Given the description of an element on the screen output the (x, y) to click on. 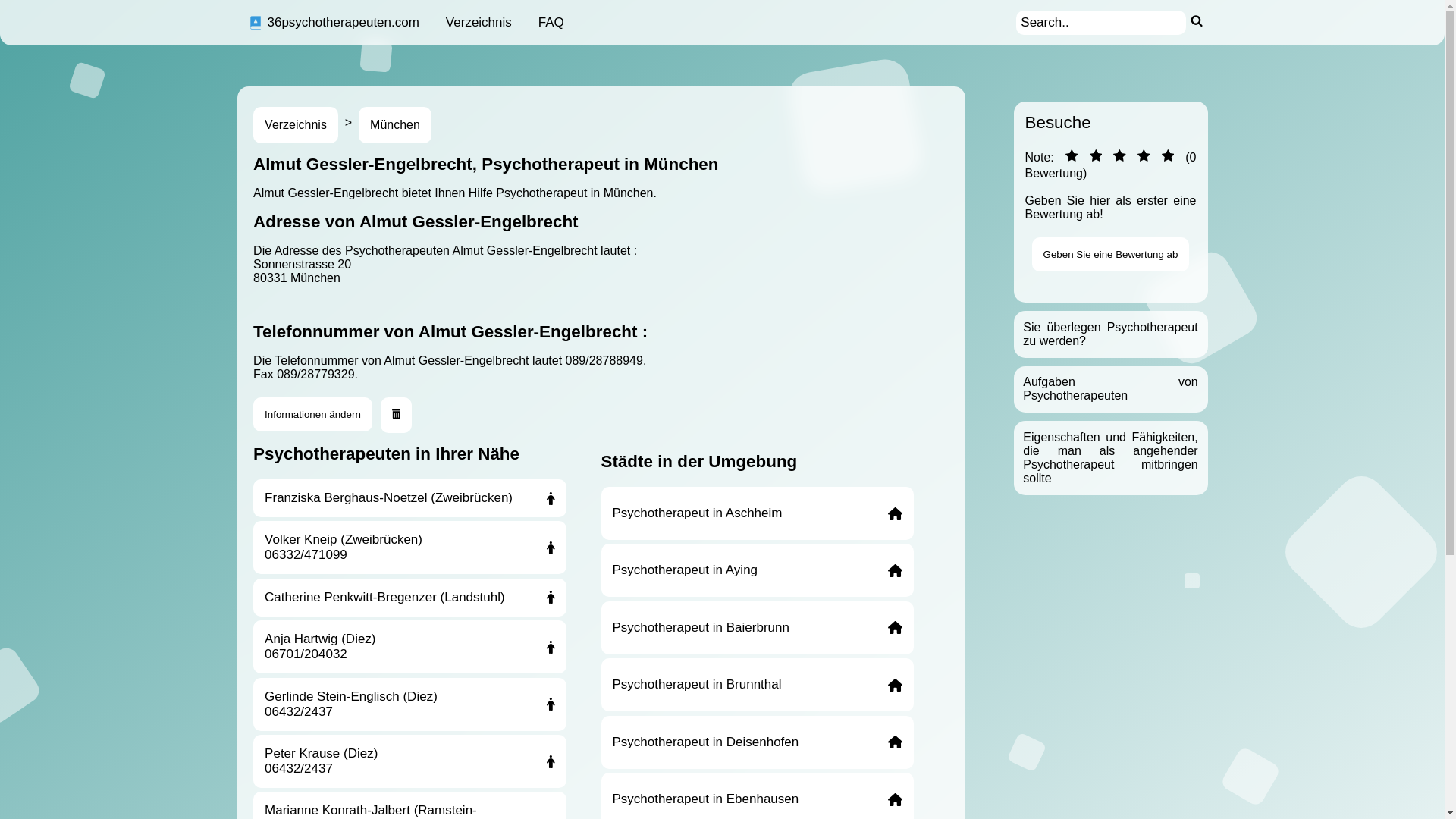
Verzeichnis Element type: text (478, 22)
Aufgaben von Psychotherapeuten Element type: text (1109, 388)
Peter Krause (Diez)
06432/2437 Element type: text (409, 760)
Geben Sie eine Bewertung ab Element type: text (1110, 254)
Verzeichnis Element type: text (295, 124)
Gerlinde Stein-Englisch (Diez)
06432/2437 Element type: text (409, 704)
Psychotherapeut in Aying Element type: text (756, 569)
Psychotherapeut in Aschheim Element type: text (756, 512)
Catherine Penkwitt-Bregenzer (Landstuhl) Element type: text (409, 597)
Psychotherapeut in Brunnthal Element type: text (756, 684)
36psychotherapeuten.com Element type: text (332, 22)
089/28788949 Element type: text (604, 360)
FAQ Element type: text (551, 22)
Psychotherapeut in Baierbrunn Element type: text (756, 627)
Psychotherapeut in Deisenhofen Element type: text (756, 741)
Anja Hartwig (Diez)
06701/204032 Element type: text (409, 646)
